Given the description of an element on the screen output the (x, y) to click on. 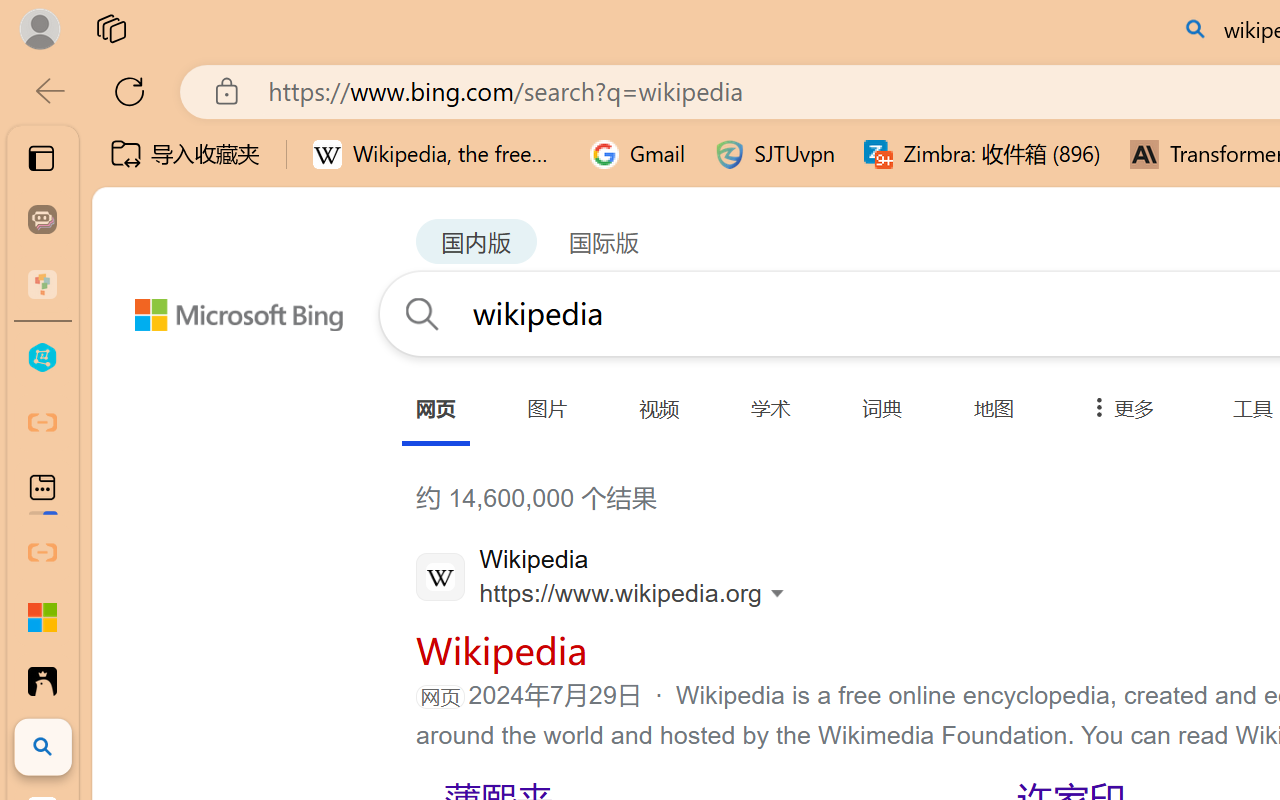
Adjust indents and spacing - Microsoft Support (42, 617)
Dropdown Menu (1118, 408)
